Given the description of an element on the screen output the (x, y) to click on. 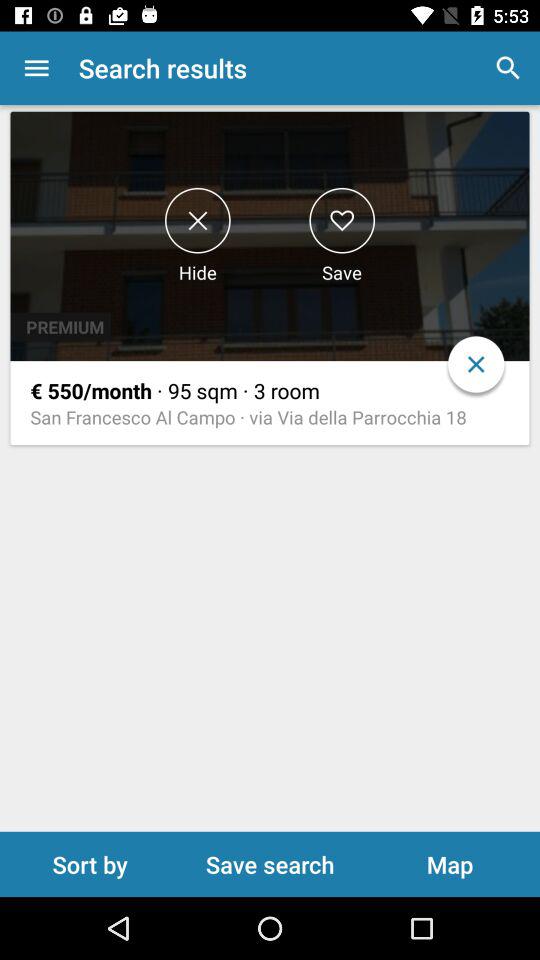
turn on sort by icon (90, 863)
